Given the description of an element on the screen output the (x, y) to click on. 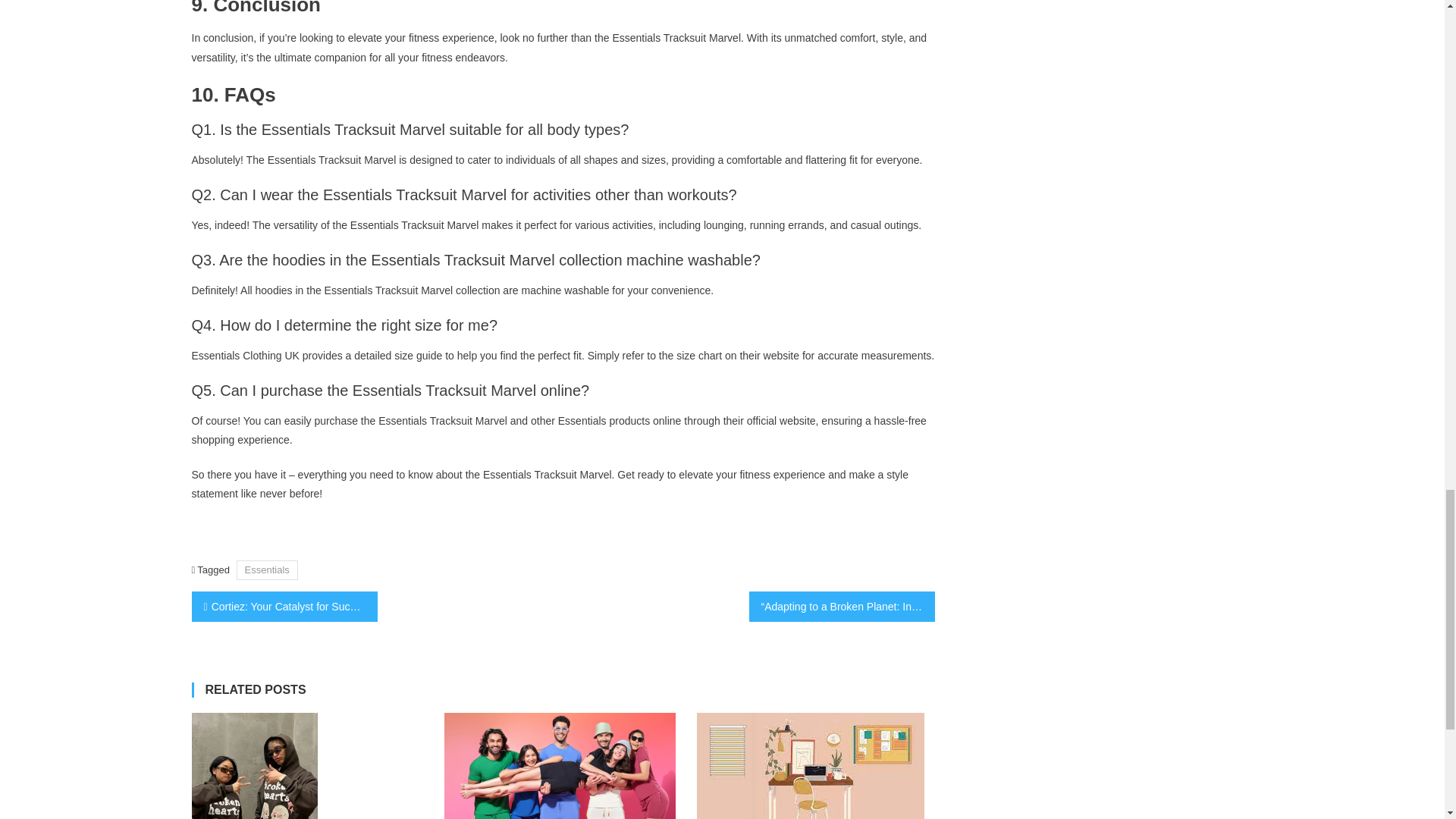
Essentials (266, 569)
The Gig Economy: Freelancing and Side Hustles 4 (810, 765)
Cortiez: Your Catalyst for Success, Your Partner for Growth (283, 606)
